Given the description of an element on the screen output the (x, y) to click on. 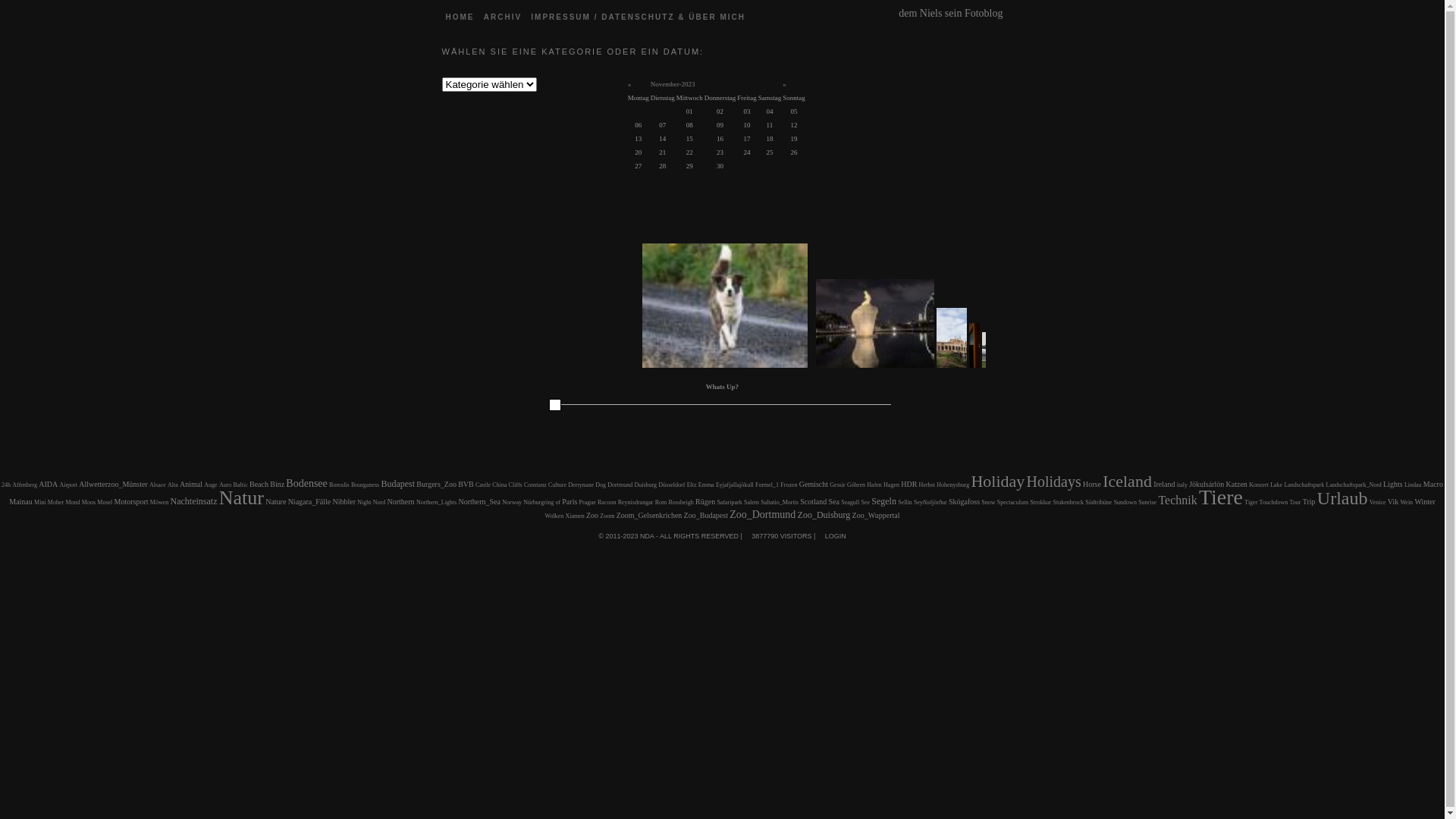
Dog Element type: text (600, 484)
HDR Element type: text (908, 484)
NDA Element type: text (646, 535)
Mond Element type: text (72, 501)
Landschaftspark_Nord Element type: text (1353, 484)
Alta Element type: text (172, 484)
Tiger Element type: text (1250, 501)
Zoo Element type: text (592, 515)
Gessir Element type: text (836, 484)
See Element type: text (864, 501)
Saltatio_Mortis Element type: text (779, 501)
Lake Element type: text (1276, 484)
Winter Element type: text (1424, 501)
Wolken Element type: text (553, 515)
Iceland Element type: text (1126, 480)
Zoom Element type: text (606, 515)
Moher Element type: text (55, 501)
Paris Element type: text (569, 501)
Budapest Element type: text (397, 483)
Hafen Element type: text (873, 484)
Emma Element type: text (706, 484)
HOME Element type: text (459, 16)
Nachteinsatz Element type: text (192, 500)
of Element type: text (557, 501)
italy Element type: text (1181, 484)
Norway Element type: text (511, 501)
Bodensee Element type: text (305, 483)
Stukenbrock Element type: text (1068, 501)
Zoo_Duisburg Element type: text (823, 514)
Zoom_Gelsenkrichen Element type: text (649, 515)
Konzert Element type: text (1258, 484)
Nibbler Element type: text (344, 501)
Zoo_Budapest Element type: text (706, 515)
Snow Element type: text (987, 501)
Safaripark Element type: text (728, 501)
Burgers_Zoo Element type: text (436, 484)
Eltz Element type: text (691, 484)
Segeln Element type: text (883, 500)
Lights Element type: text (1392, 484)
Tour Element type: text (1294, 501)
Touchdown Element type: text (1273, 501)
Night Element type: text (363, 501)
Tiere Element type: text (1220, 496)
Holiday Element type: text (997, 480)
Prague Element type: text (587, 501)
Gemischt Element type: text (813, 484)
24h Element type: text (5, 484)
Sellin Element type: text (904, 501)
Wein Element type: text (1405, 501)
Nature Element type: text (275, 501)
Constanz Element type: text (535, 484)
Duisburg Element type: text (644, 484)
Vik Element type: text (1392, 501)
Landschaftspark Element type: text (1303, 484)
Moos Element type: text (88, 501)
Culture Element type: text (557, 484)
Sundown Element type: text (1124, 501)
Lindau Element type: text (1412, 484)
Spectaculum Element type: text (1012, 501)
Horse Element type: text (1091, 484)
Natur Element type: text (241, 497)
Frozen Element type: text (788, 484)
Cliffs Element type: text (515, 484)
Mainau Element type: text (20, 501)
Katzen Element type: text (1236, 484)
Mosel Element type: text (104, 501)
Venice Element type: text (1377, 501)
Reynisdrangar Element type: text (635, 501)
Rom Element type: text (661, 501)
AIDA Element type: text (47, 484)
China Element type: text (499, 484)
Northern_Lights Element type: text (436, 501)
Macro Element type: text (1433, 484)
Derrynane Element type: text (580, 484)
Holidays Element type: text (1053, 481)
Auro Element type: text (225, 484)
Strokkur Element type: text (1040, 501)
Ireland Element type: text (1163, 484)
BVB Element type: text (465, 484)
Northern_Sea Element type: text (479, 501)
Scotland Element type: text (813, 501)
Formel_1 Element type: text (766, 484)
Herbst Element type: text (927, 484)
Castle Element type: text (482, 484)
Salem Element type: text (751, 501)
Nord Element type: text (379, 501)
Auge Element type: text (209, 484)
Trip Element type: text (1308, 501)
Urlaub Element type: text (1342, 498)
Zoo_Wuppertal Element type: text (876, 515)
Xiamen Element type: text (573, 515)
Rossbeigh Element type: text (680, 501)
Hohenysburg Element type: text (952, 484)
Technik Element type: text (1176, 499)
Airport Element type: text (68, 484)
Beach Element type: text (258, 484)
Sunrise Element type: text (1147, 501)
Zoo_Dortmund Element type: text (762, 514)
Seagull Element type: text (849, 501)
Hagen Element type: text (891, 484)
Binz Element type: text (276, 484)
Affenberg Element type: text (24, 484)
Baltic Element type: text (240, 484)
Northern Element type: text (400, 501)
Sea Element type: text (833, 501)
Dortmund Element type: text (619, 484)
Alsace Element type: text (157, 484)
Mini Element type: text (40, 501)
Bourganess Element type: text (365, 484)
Borealis Element type: text (339, 484)
Motorsport Element type: text (131, 501)
dem Niels sein Fotoblog Element type: text (950, 9)
ARCHIV Element type: text (502, 16)
Racoon Element type: text (606, 501)
Animal Element type: text (190, 484)
LOGIN Element type: text (835, 535)
